Given the description of an element on the screen output the (x, y) to click on. 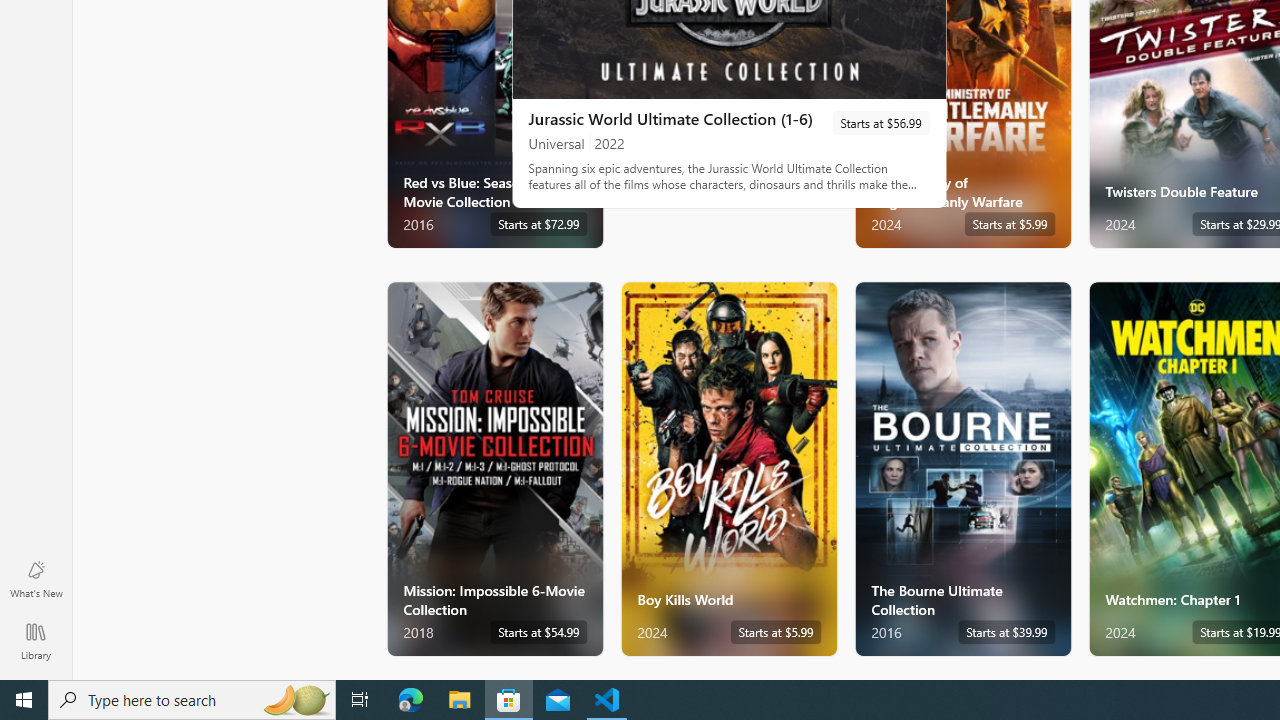
Boy Kills World. Starts at $5.99   (728, 468)
